Given the description of an element on the screen output the (x, y) to click on. 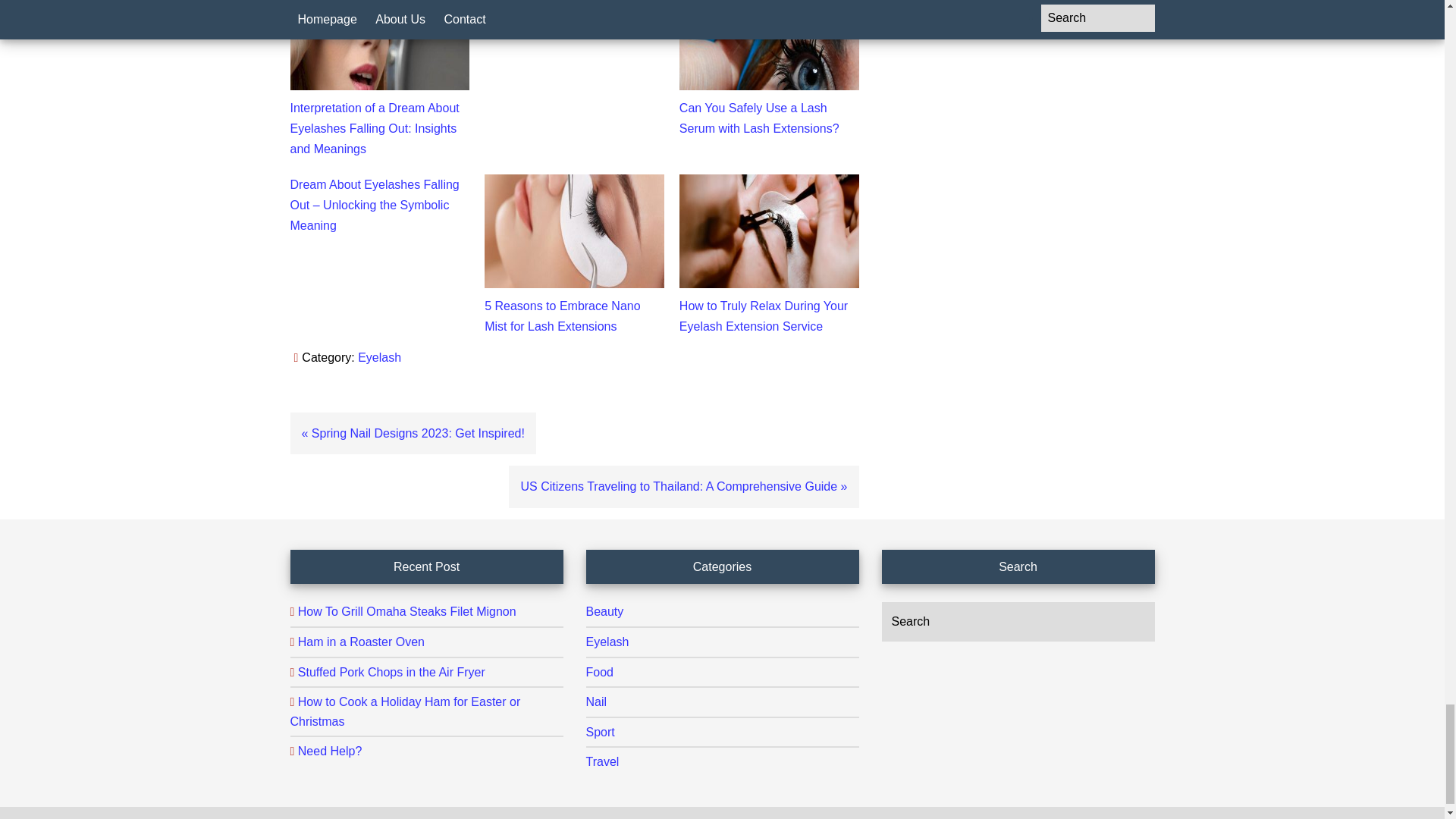
Can You Safely Use a Lash Serum with Lash Extensions? (759, 118)
5 Reasons to Embrace Nano Mist for Lash Extensions (562, 315)
How to Truly Relax During Your Eyelash Extension Service (763, 315)
Eyelash (379, 357)
